Given the description of an element on the screen output the (x, y) to click on. 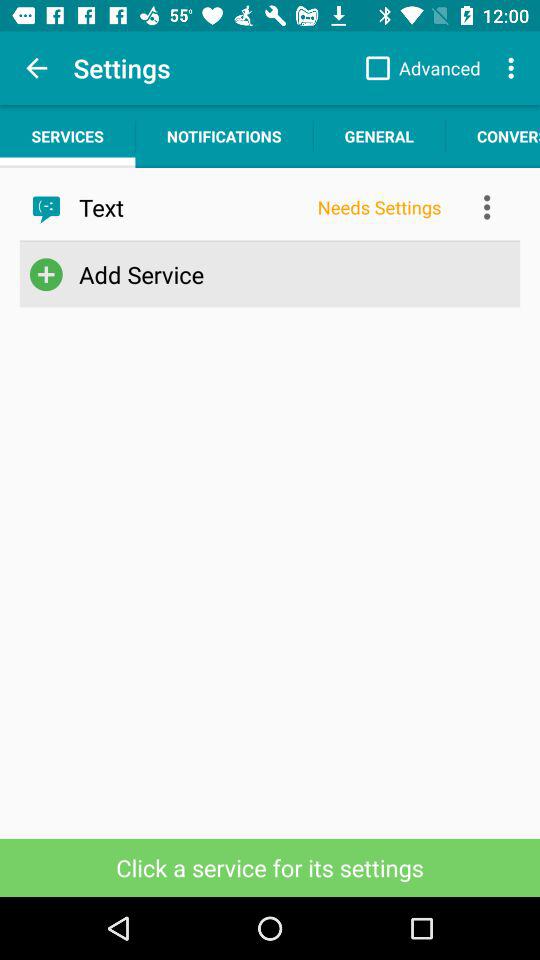
scroll until needs settings app (379, 207)
